Given the description of an element on the screen output the (x, y) to click on. 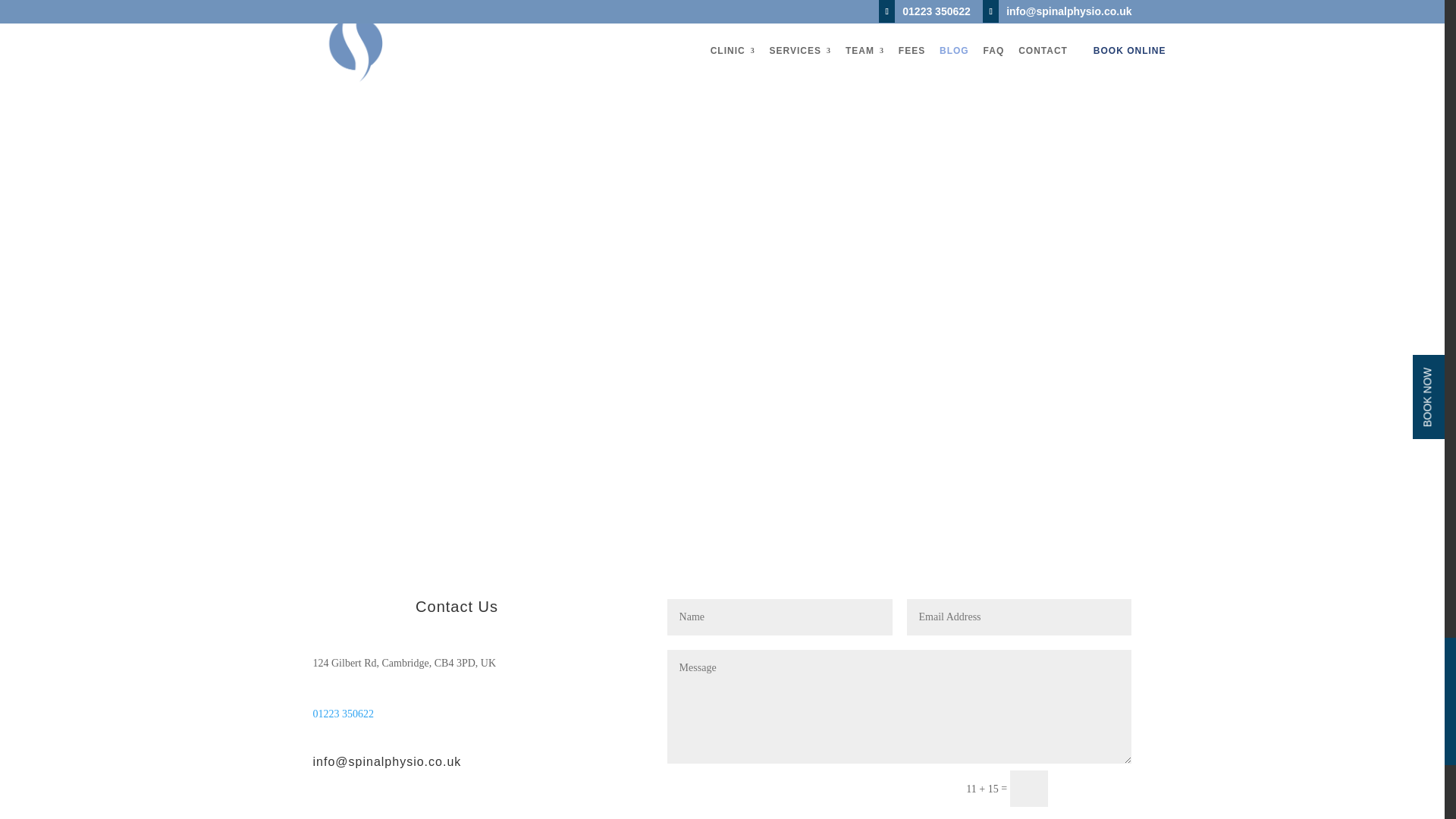
Follow on Facebook (324, 813)
Follow on LinkedIn (384, 813)
Follow on X (354, 813)
